Given the description of an element on the screen output the (x, y) to click on. 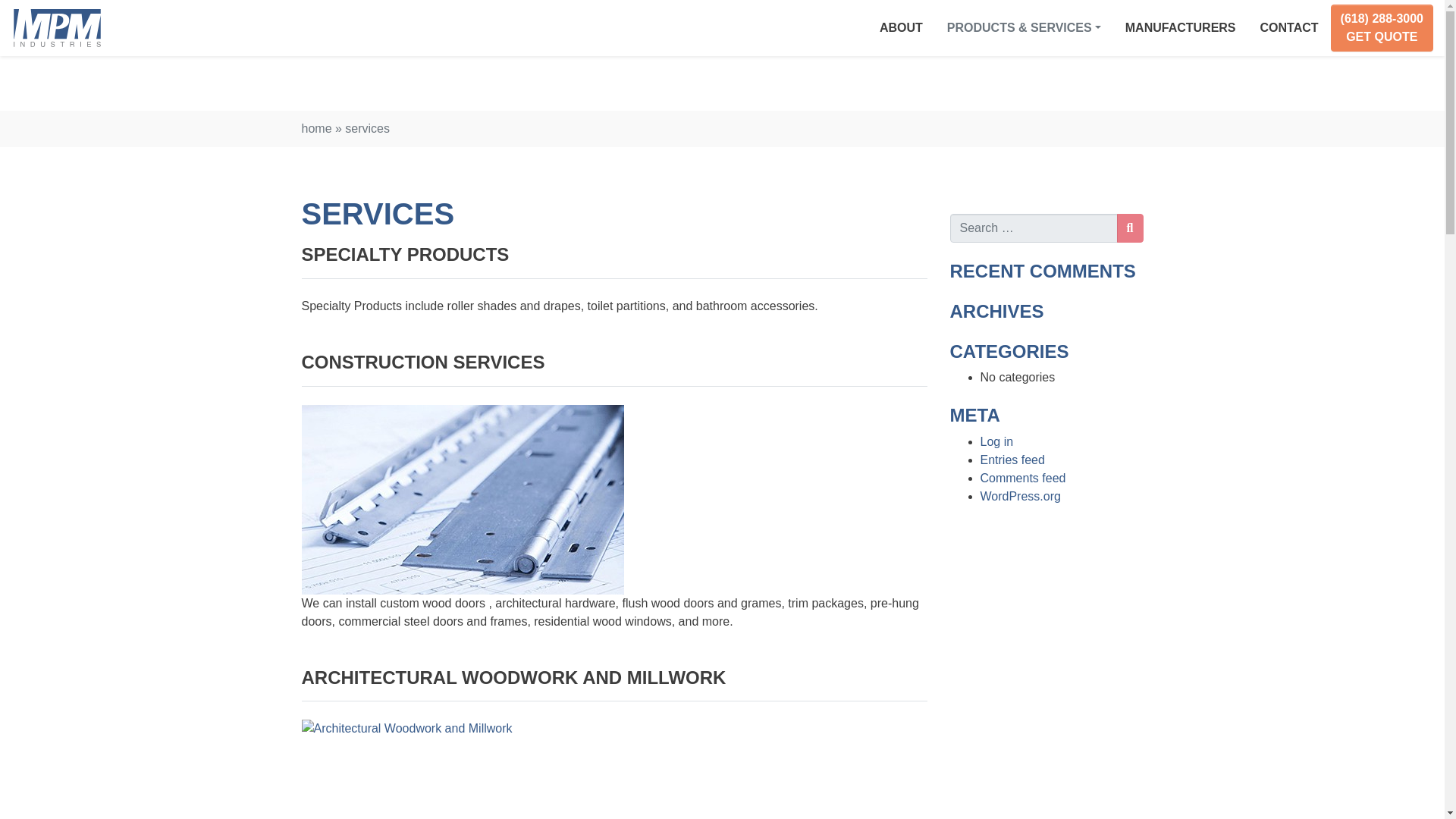
About (900, 28)
home (316, 128)
Entries feed (1011, 459)
WordPress.org (1019, 495)
SPECIALTY PRODUCTS (405, 254)
CONSTRUCTION SERVICES (422, 362)
ABOUT (900, 28)
ARCHITECTURAL WOODWORK AND MILLWORK (513, 677)
Contact (1288, 28)
MANUFACTURERS (1180, 28)
